Given the description of an element on the screen output the (x, y) to click on. 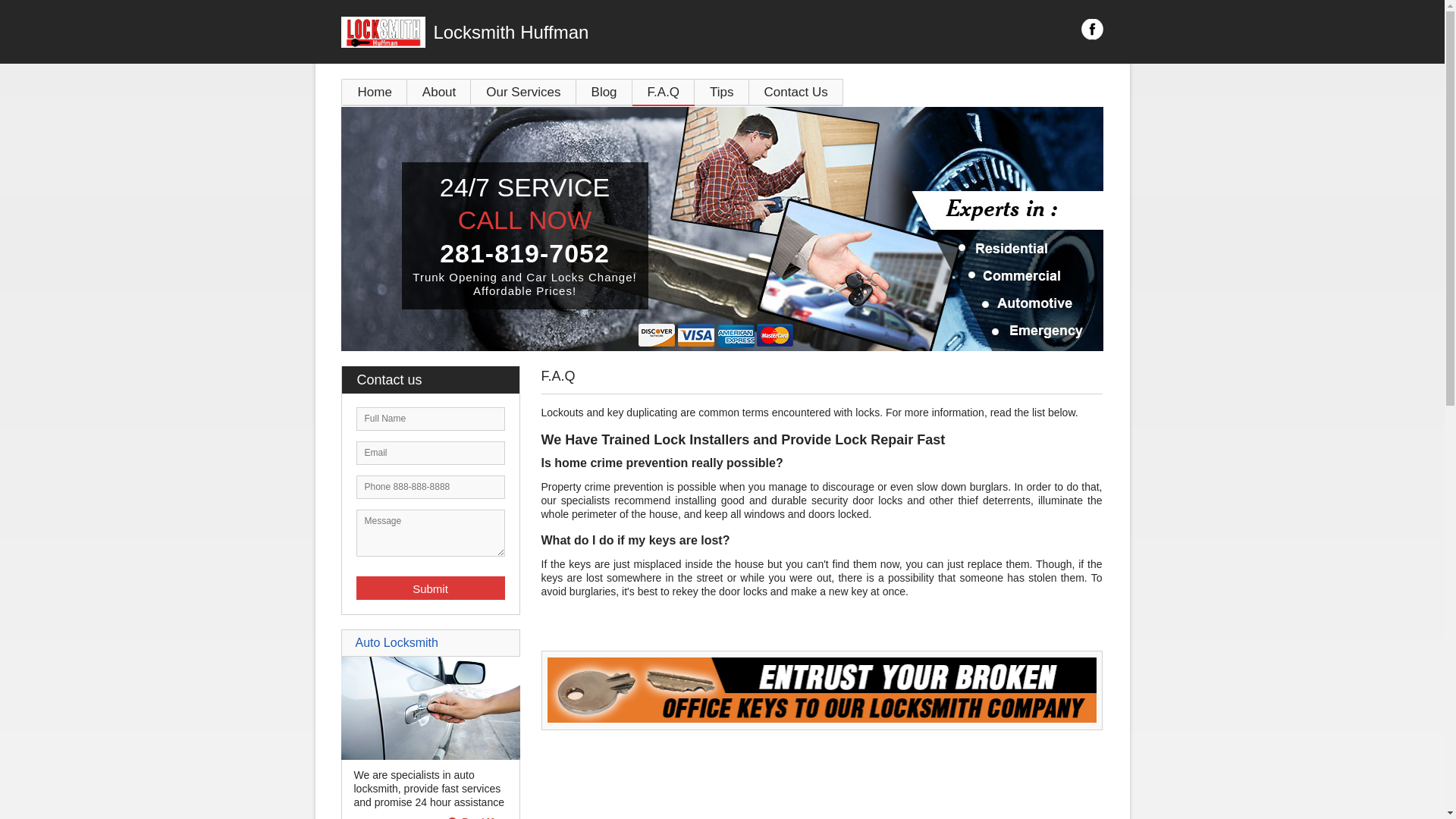
Contact Us Element type: text (796, 91)
Submit Element type: text (430, 587)
Facebook Element type: text (1092, 29)
F.A.Q | Locksmith Huffman, TX Element type: hover (821, 689)
Locksmith Huffman Element type: text (606, 32)
Blog Element type: text (604, 91)
Banner Element type: hover (821, 718)
Auto Locksmith Element type: hover (430, 755)
Our Services Element type: text (522, 91)
Auto Locksmith Element type: text (395, 642)
Tips Element type: text (721, 91)
Contact us Element type: text (437, 379)
Locksmith Huffman, TX | 281-819-7052 | The Best Choice Element type: hover (722, 228)
F.A.Q Element type: text (663, 91)
Home Element type: text (374, 91)
About Element type: text (438, 91)
